Given the description of an element on the screen output the (x, y) to click on. 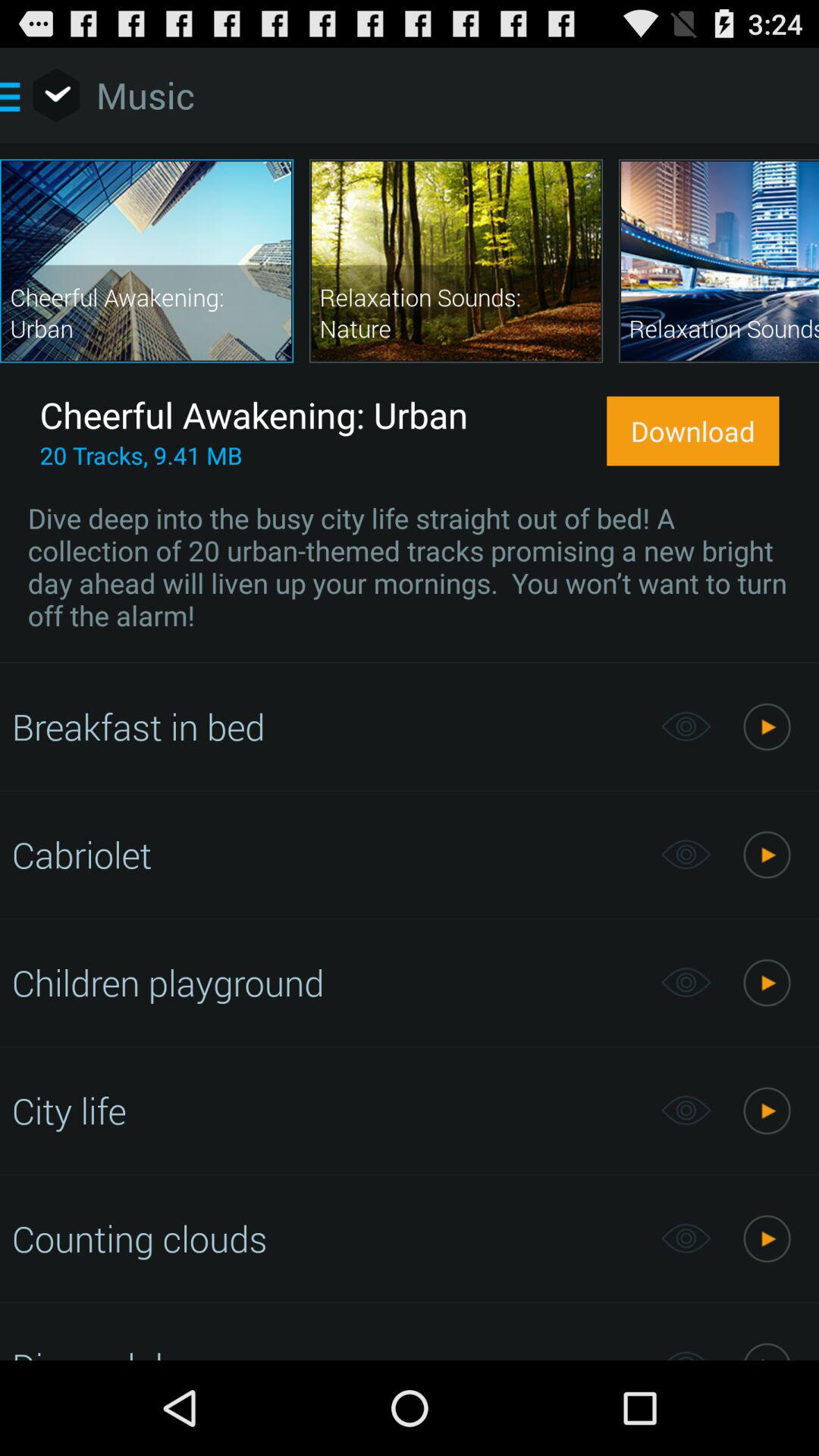
tap dive deep into item (409, 566)
